Given the description of an element on the screen output the (x, y) to click on. 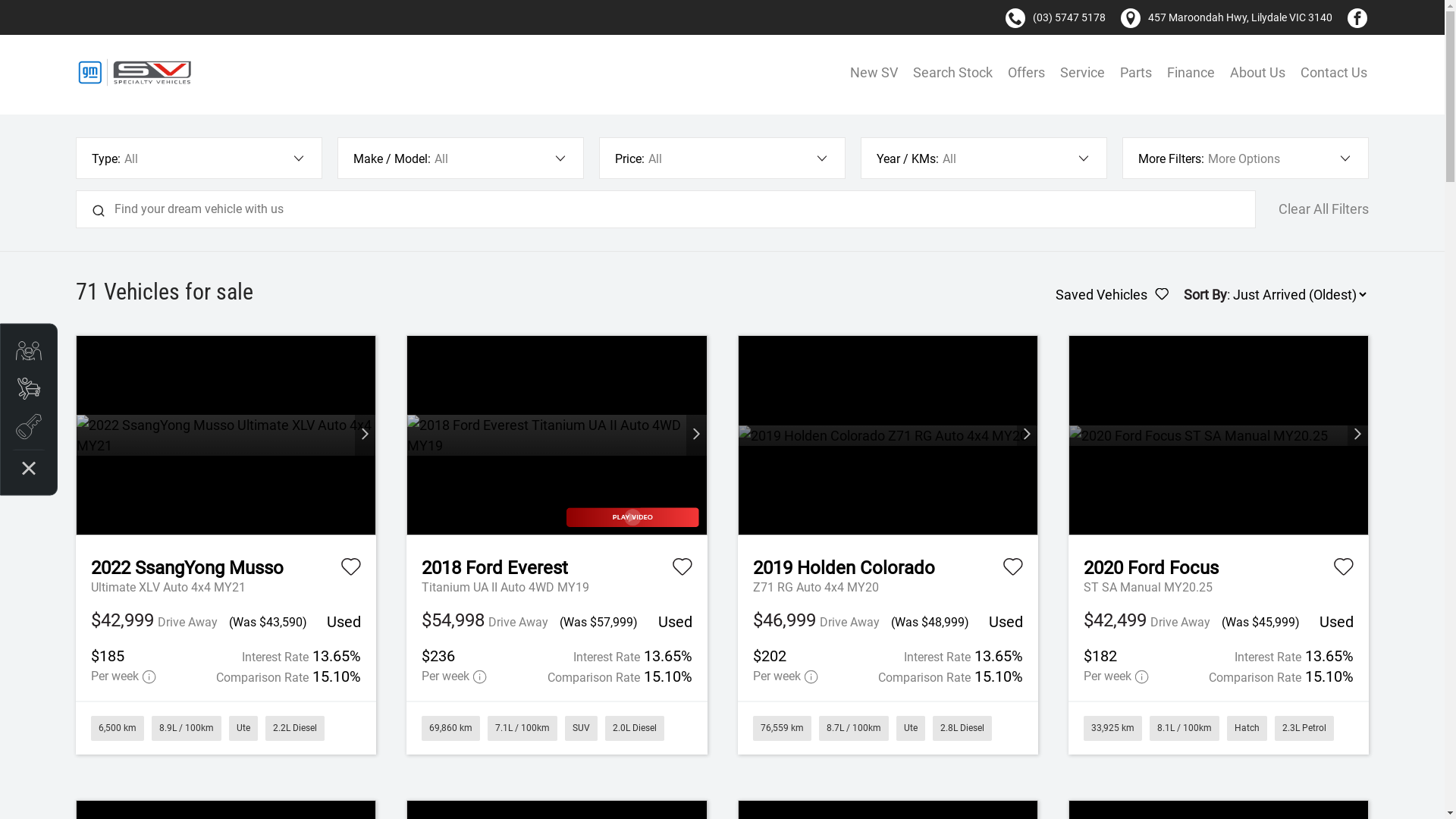
2018 Ford Everest
Titanium UA II Auto 4WD MY19 Element type: text (556, 565)
Save Vehicle Element type: hover (350, 570)
2020 Ford Focus ST SA Manual MY20.25 Element type: hover (1218, 435)
457 Maroondah Hwy, Lilydale VIC 3140 Element type: text (1240, 17)
$42,999
Drive Away
(Was $43,590)
Used Element type: text (225, 621)
Offers Element type: text (1025, 72)
New SV Element type: text (872, 72)
About Us Element type: text (1257, 72)
Saved Vehicles Element type: text (1111, 294)
2022 SsangYong Musso
Ultimate XLV Auto 4x4 MY21 Element type: text (225, 565)
Save Vehicle Element type: hover (1343, 570)
Contact Us Element type: text (1329, 72)
$182
Per week
13.65%
Interest Rate
15.10%
Comparison Rate Element type: text (1218, 673)
Save Vehicle Element type: hover (681, 570)
$54,998
Drive Away
(Was $57,999)
Used Element type: text (556, 621)
$46,999
Drive Away
(Was $48,999)
Used Element type: text (887, 621)
76,559 km
8.7L / 100km
Ute
2.8L Diesel Element type: text (887, 727)
2019 Holden Colorado
Z71 RG Auto 4x4 MY20 Element type: text (887, 565)
2019 Holden Colorado Z71 RG Auto 4x4 MY20 Element type: hover (887, 435)
$42,499
Drive Away
(Was $45,999)
Used Element type: text (1218, 621)
(03) 5747 5178 Element type: text (1068, 17)
2020 Ford Focus
ST SA Manual MY20.25 Element type: text (1218, 565)
33,925 km
8.1L / 100km
Hatch
2.3L Petrol Element type: text (1218, 727)
69,860 km
7.1L / 100km
SUV
2.0L Diesel Element type: text (556, 727)
2022 SsangYong Musso Ultimate XLV Auto 4x4 MY21 Element type: hover (225, 434)
$236
Per week
13.65%
Interest Rate
15.10%
Comparison Rate Element type: text (556, 673)
Finance Element type: text (1189, 72)
Service Element type: text (1082, 72)
Parts Element type: text (1134, 72)
Search Stock Element type: text (952, 72)
2018 Ford Everest Titanium UA II Auto 4WD MY19 Element type: hover (556, 434)
$202
Per week
13.65%
Interest Rate
15.10%
Comparison Rate Element type: text (887, 673)
6,500 km
8.9L / 100km
Ute
2.2L Diesel Element type: text (225, 727)
Save Vehicle Element type: hover (1012, 570)
$185
Per week
13.65%
Interest Rate
15.10%
Comparison Rate Element type: text (225, 673)
Clear All Filters Element type: text (1323, 209)
